Given the description of an element on the screen output the (x, y) to click on. 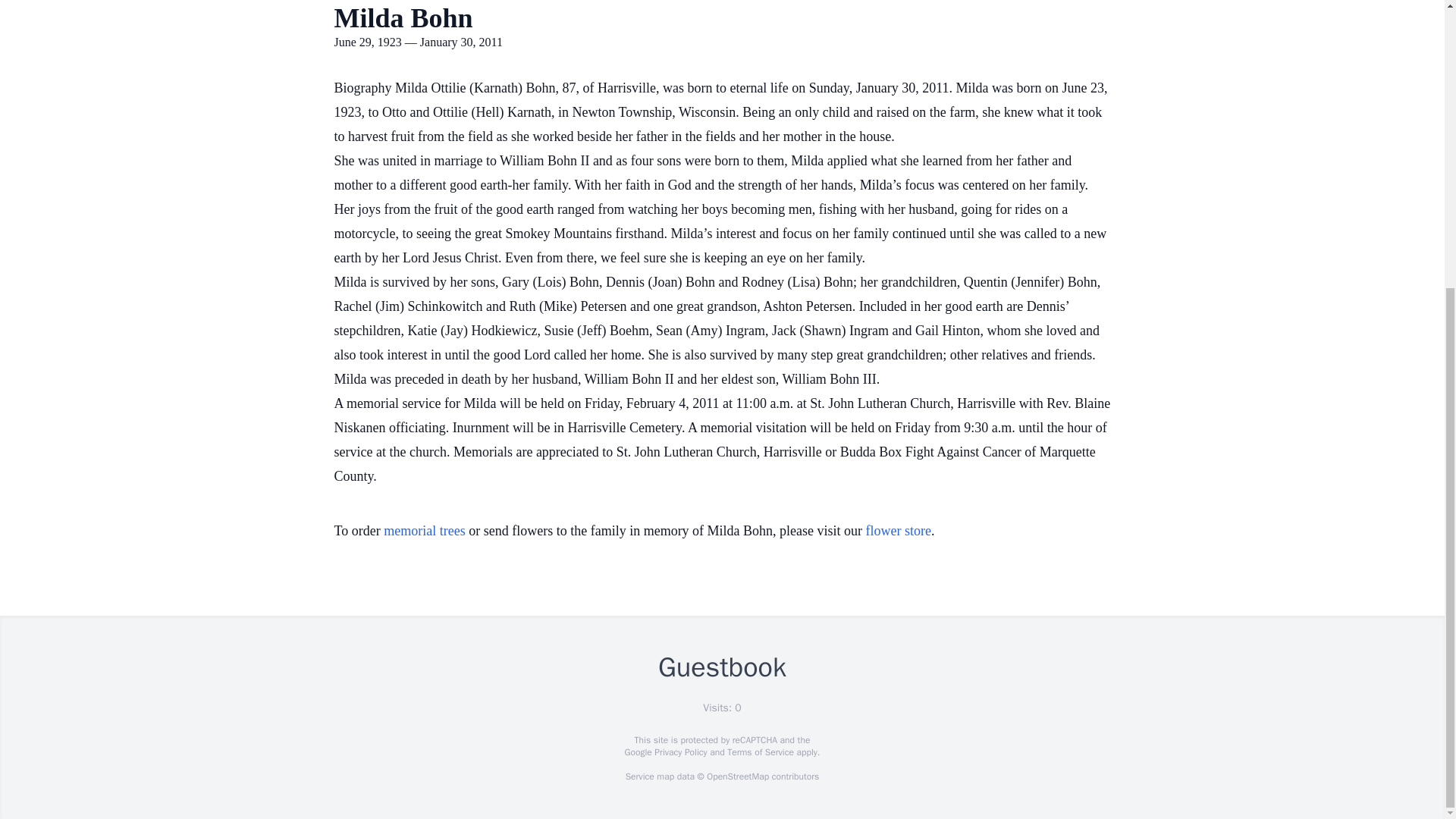
flower store (898, 530)
OpenStreetMap (737, 776)
Privacy Policy (679, 752)
Terms of Service (759, 752)
memorial trees (424, 530)
